Given the description of an element on the screen output the (x, y) to click on. 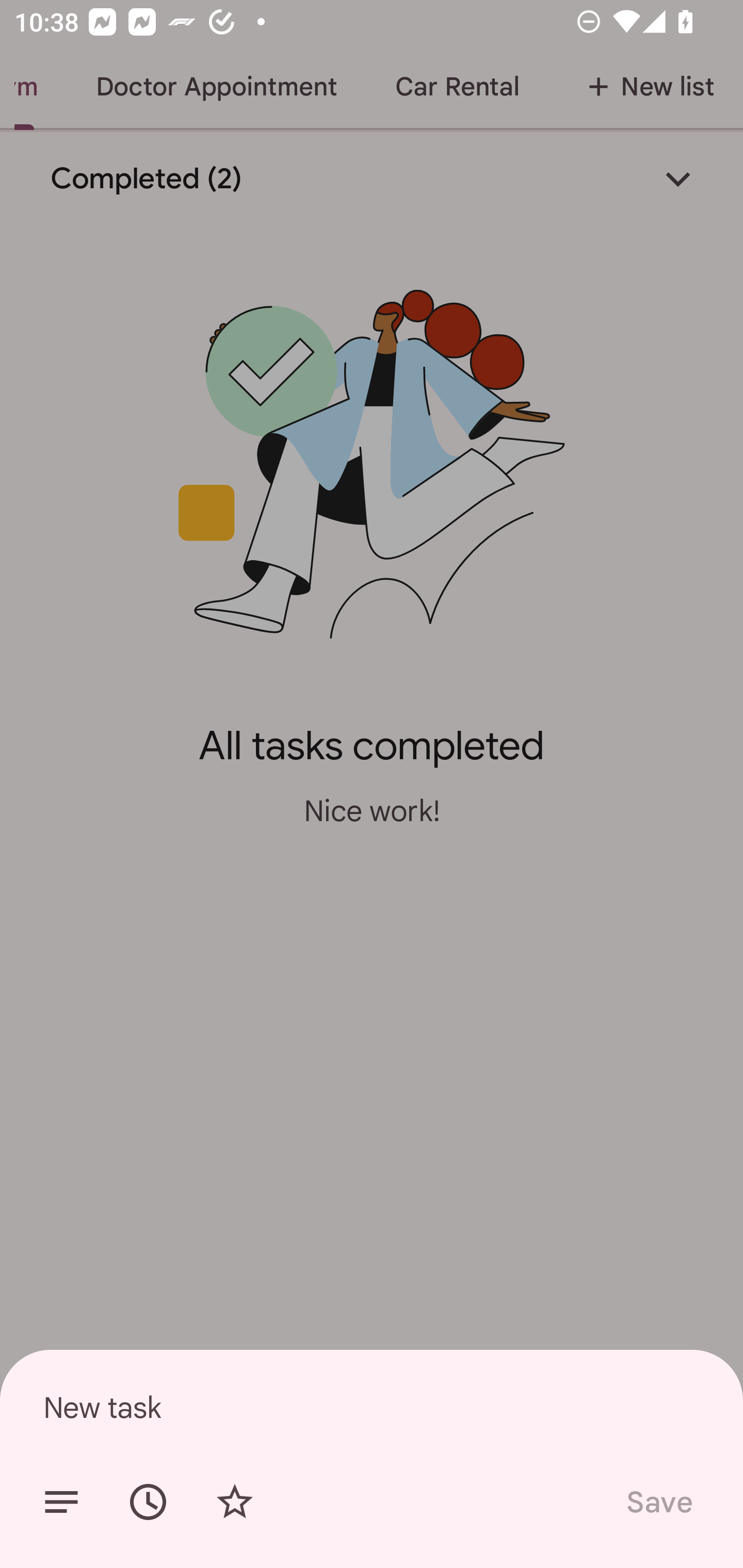
New task (371, 1407)
Save (659, 1501)
Add details (60, 1501)
Set date/time (147, 1501)
Add star (234, 1501)
